Given the description of an element on the screen output the (x, y) to click on. 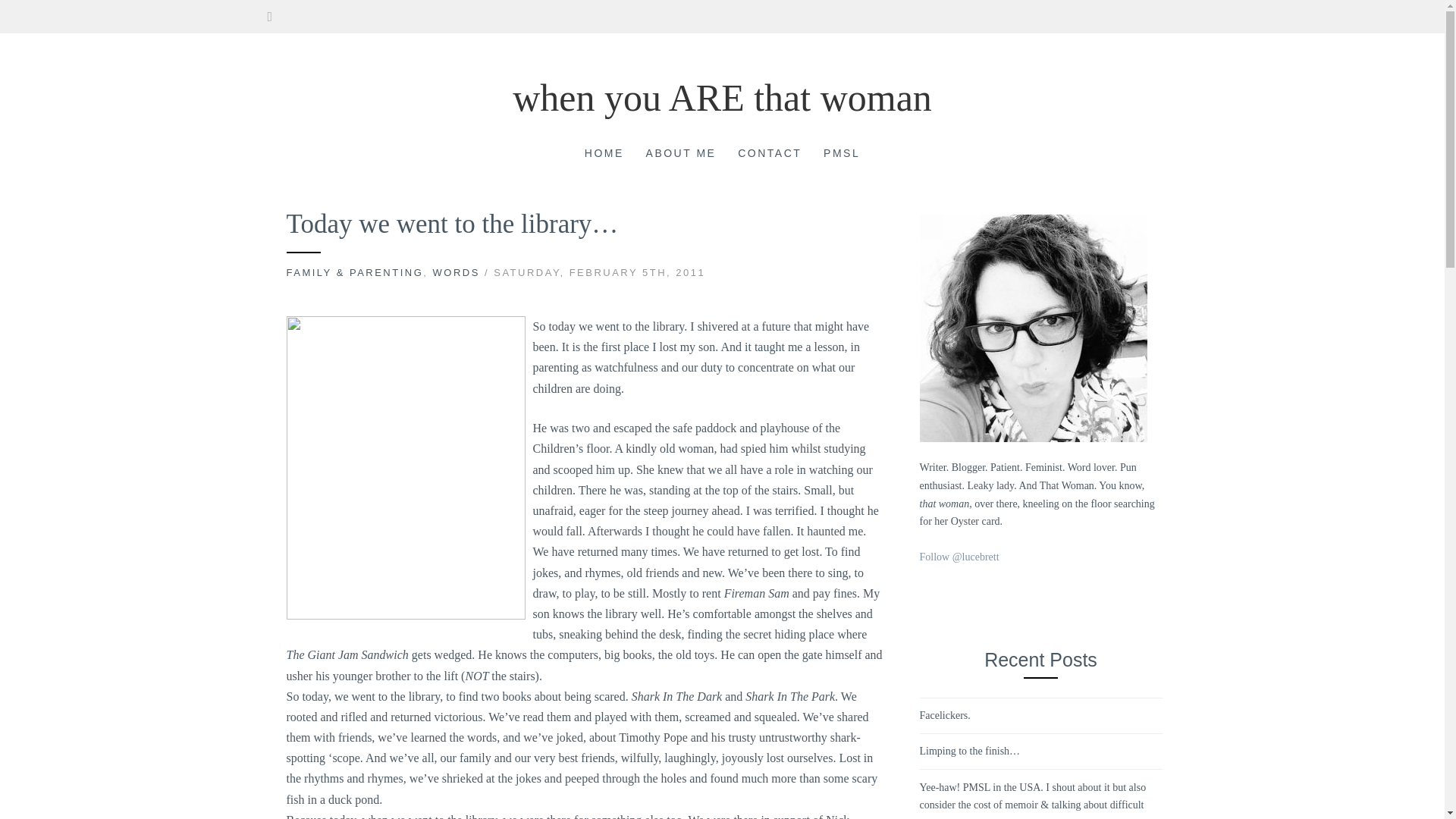
Facelickers. (943, 716)
HOME (604, 154)
WORDS (456, 272)
when you ARE that woman (721, 97)
ABOUT ME (681, 154)
CONTACT (770, 154)
PMSL (842, 154)
